Given the description of an element on the screen output the (x, y) to click on. 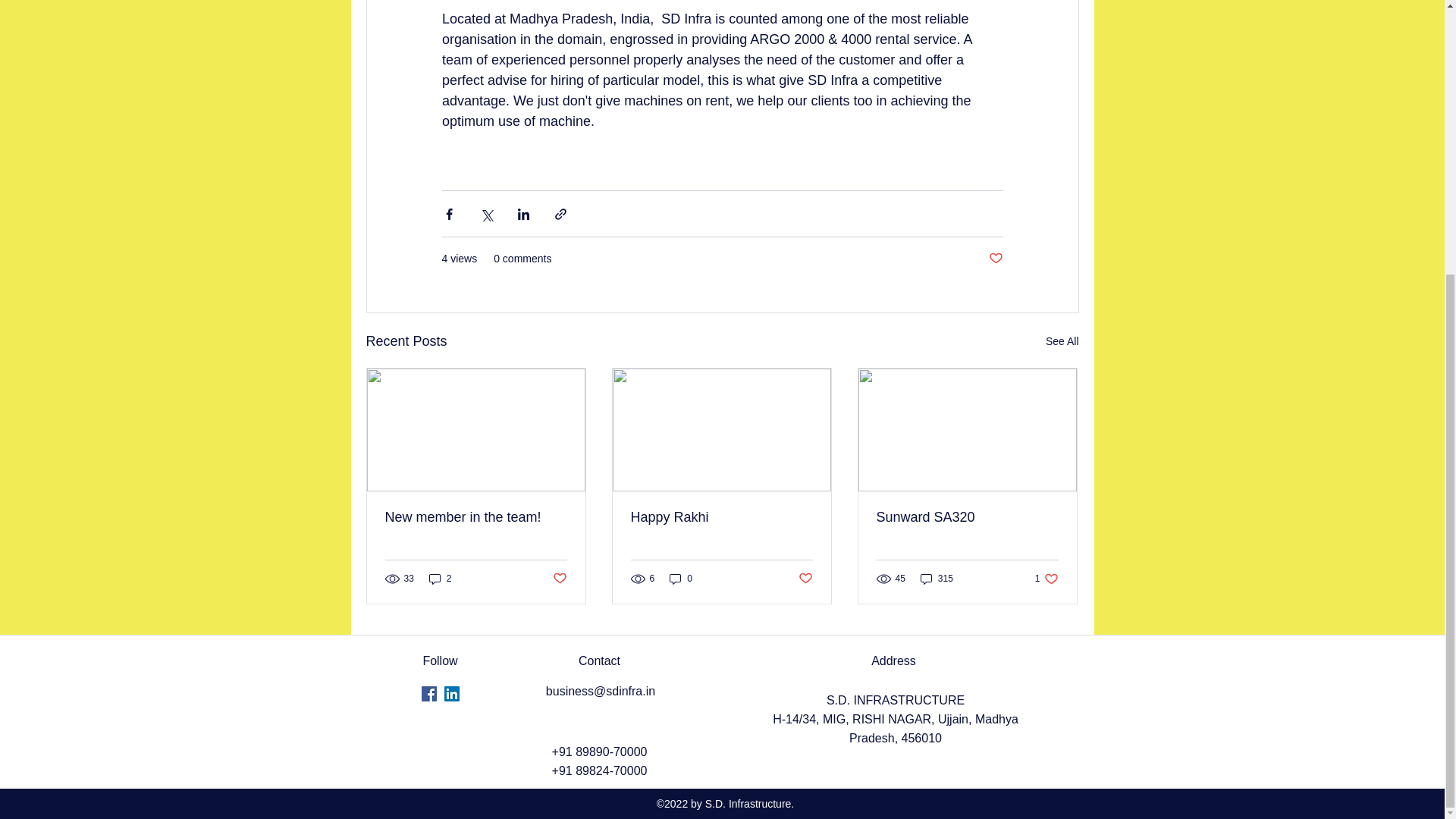
Post not marked as liked (558, 578)
See All (1061, 341)
New member in the team! (476, 517)
2 (440, 577)
Post not marked as liked (995, 258)
